Given the description of an element on the screen output the (x, y) to click on. 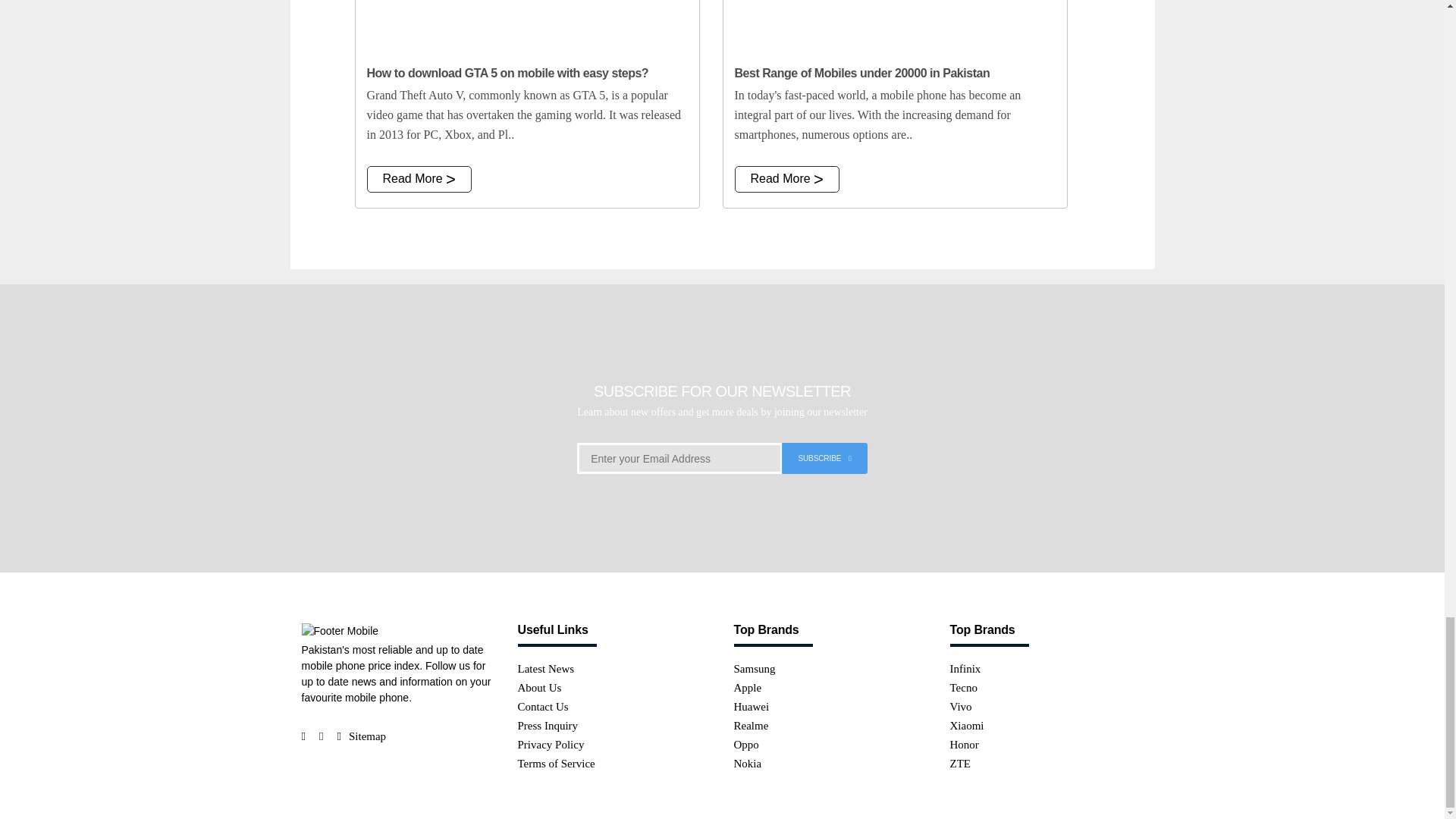
Best Range of Mobiles under 20000 in Pakistan (895, 27)
How to download GTA 5 on mobile with easy steps? (526, 27)
SiteMap (367, 736)
